Given the description of an element on the screen output the (x, y) to click on. 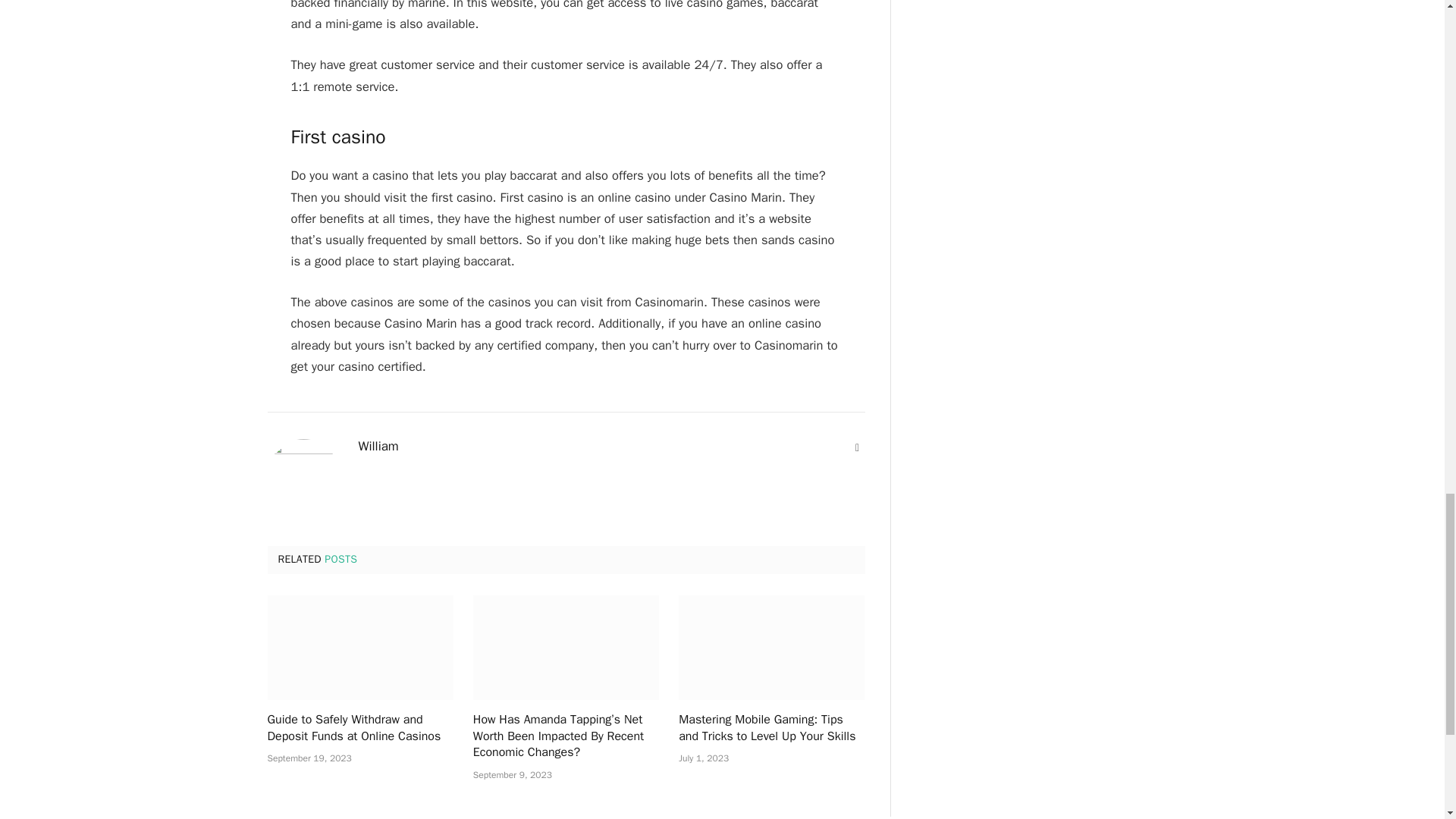
Posts by William (377, 446)
Website (856, 447)
Guide to Safely Withdraw and Deposit Funds at Online Casinos (359, 728)
William (377, 446)
Guide to Safely Withdraw and Deposit Funds at Online Casinos (359, 647)
Website (856, 447)
